Given the description of an element on the screen output the (x, y) to click on. 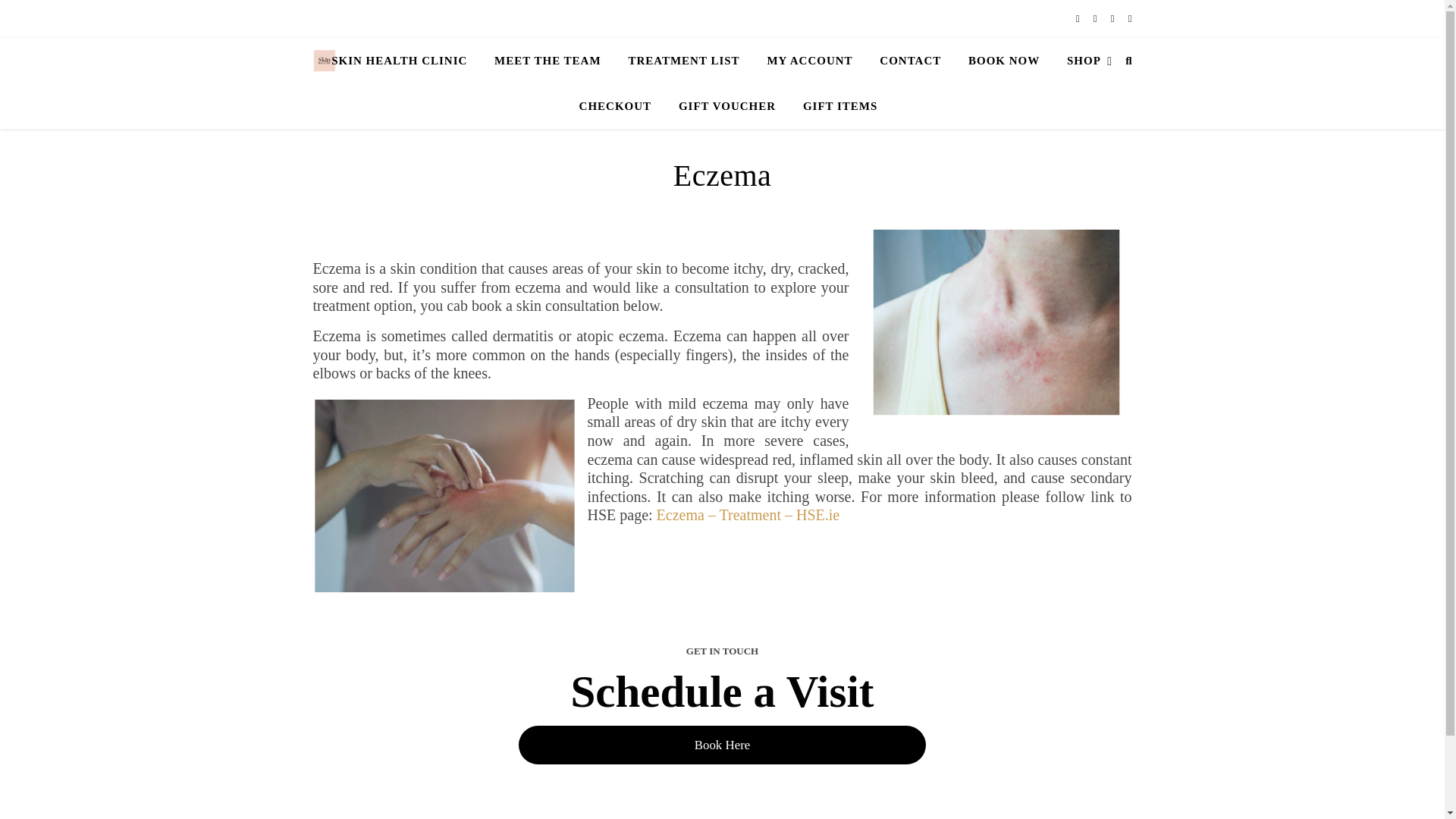
TREATMENT LIST (683, 60)
CONTACT (910, 60)
SHOP (1083, 60)
SKIN HEALTH CLINIC (405, 60)
MEET THE TEAM (546, 60)
Book Here (721, 744)
GIFT VOUCHER (726, 105)
GIFT ITEMS (833, 105)
BOOK NOW (1003, 60)
MY ACCOUNT (809, 60)
The Skin Health Clinic (323, 60)
CHECKOUT (615, 105)
